Given the description of an element on the screen output the (x, y) to click on. 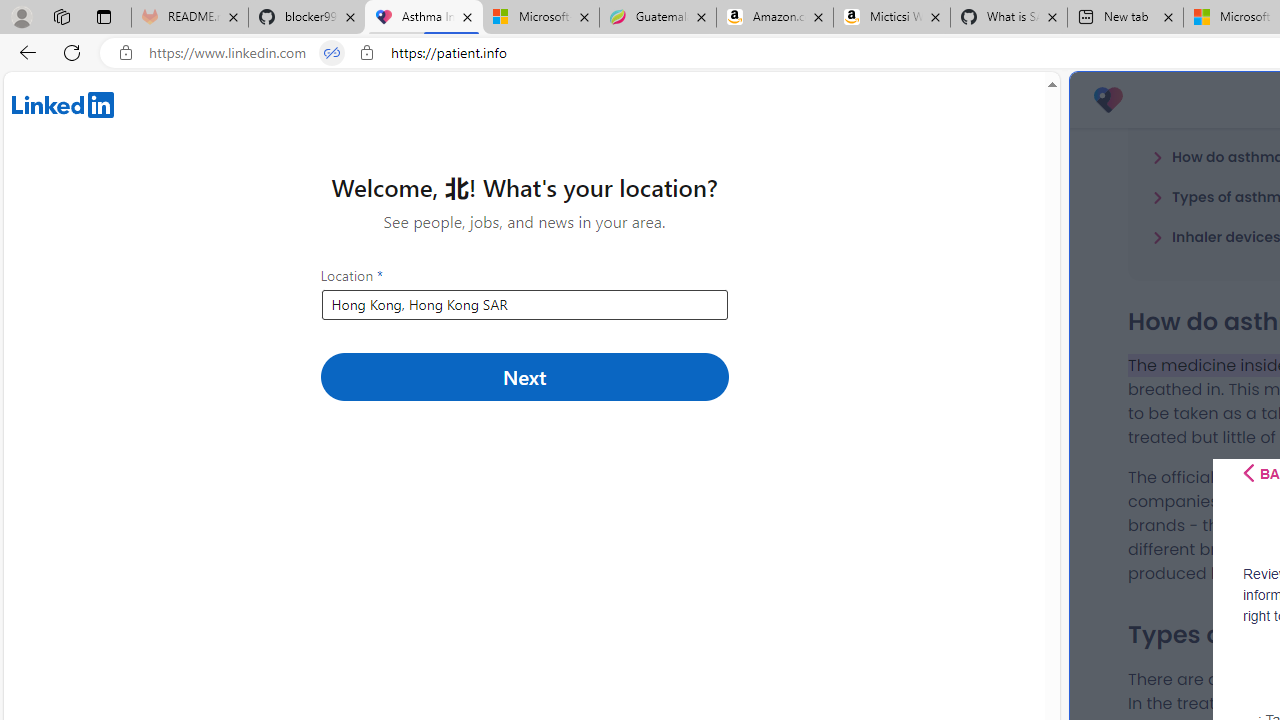
Patient 3.0 (1108, 100)
Tabs in split screen (331, 53)
Class: css-i5klq5 (1248, 473)
Asthma Inhalers: Names and Types (424, 17)
